Given the description of an element on the screen output the (x, y) to click on. 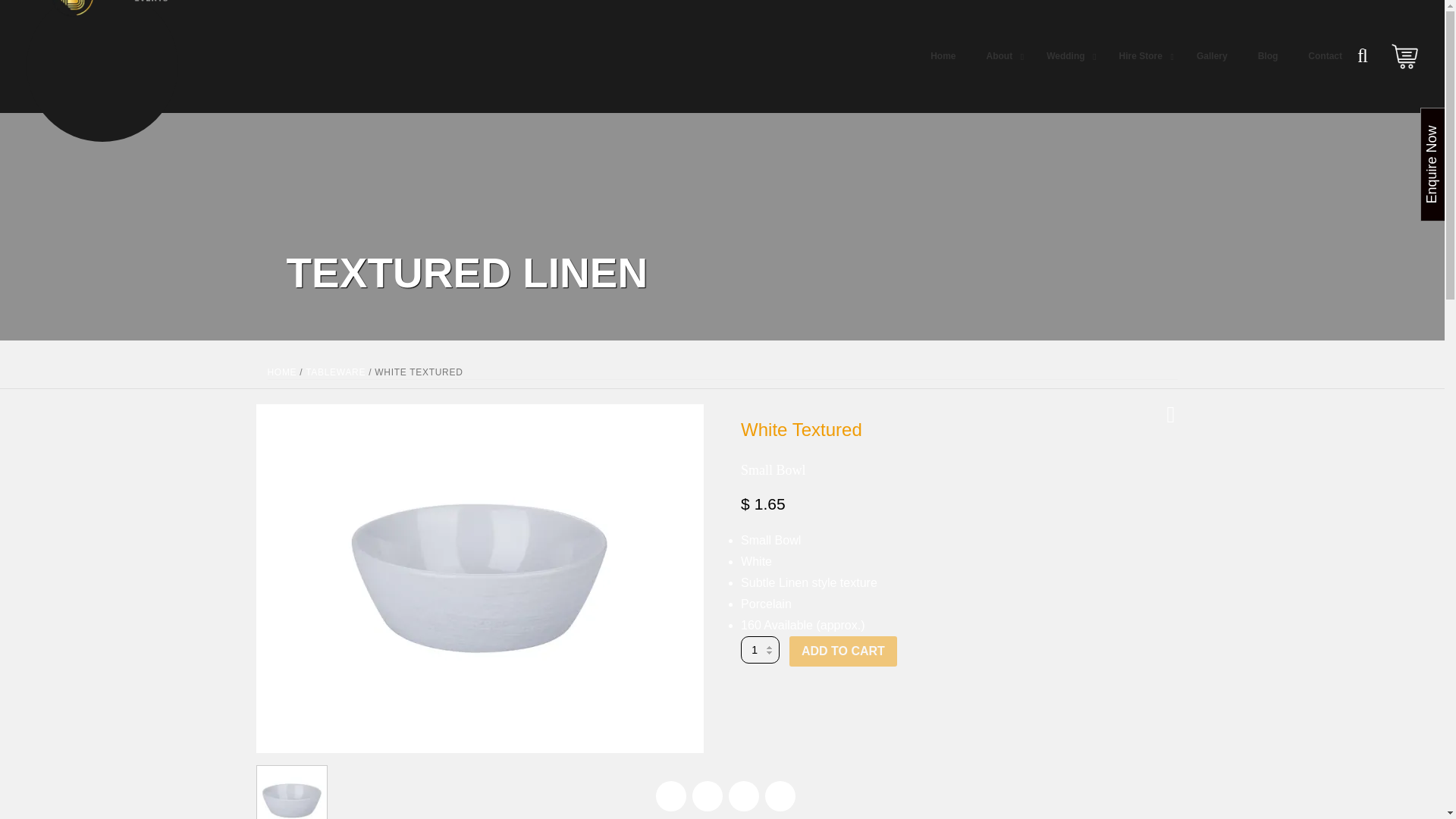
Home (943, 56)
About (1000, 56)
Hire Store (1141, 56)
Wedding (1066, 56)
Qty (1135, 56)
1 (759, 649)
BlackLabel-Texturesmallbowl (759, 649)
